Given the description of an element on the screen output the (x, y) to click on. 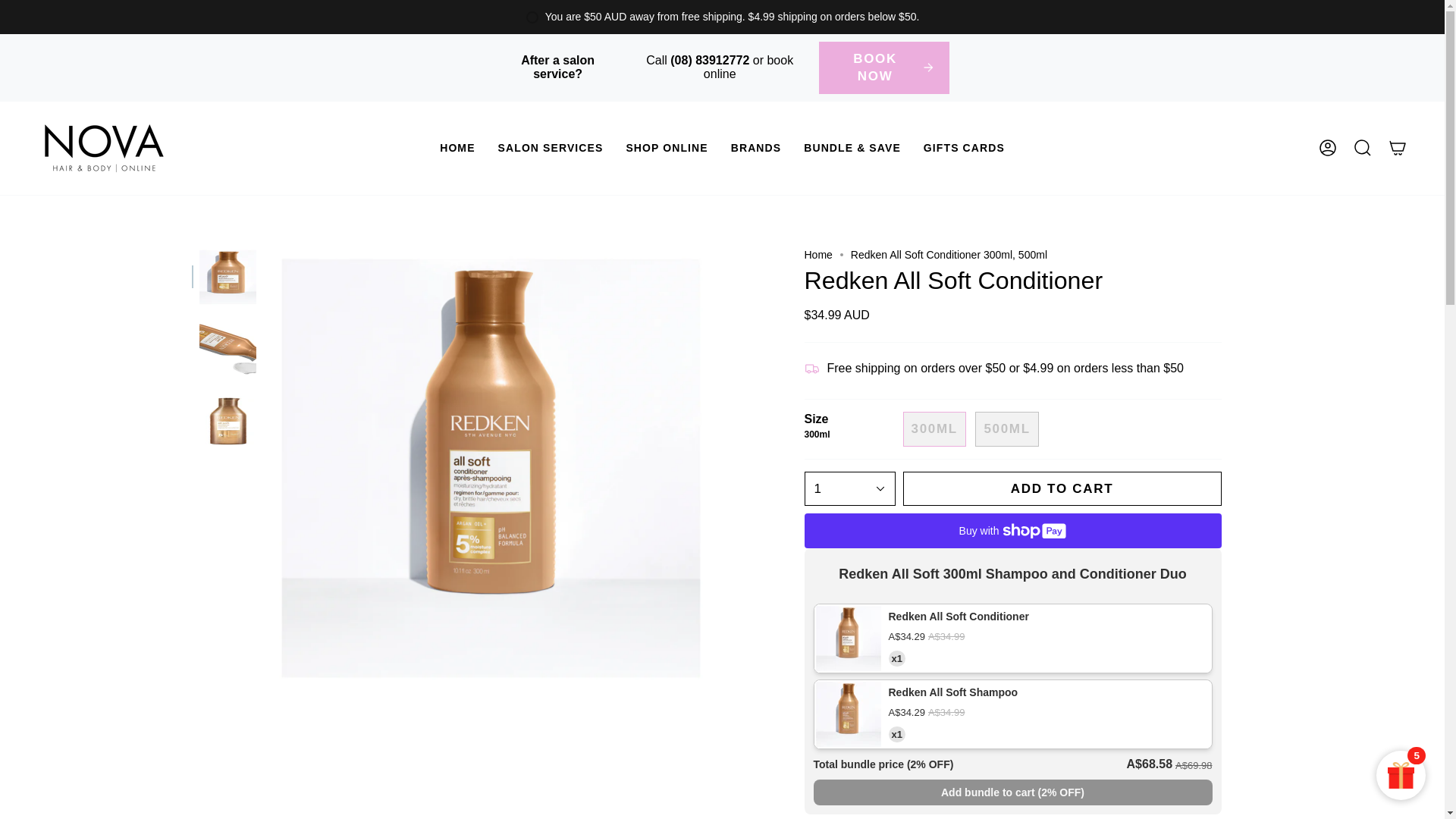
SALON SERVICES (550, 147)
BOOK NOW (884, 67)
SHOP ONLINE (666, 147)
